Given the description of an element on the screen output the (x, y) to click on. 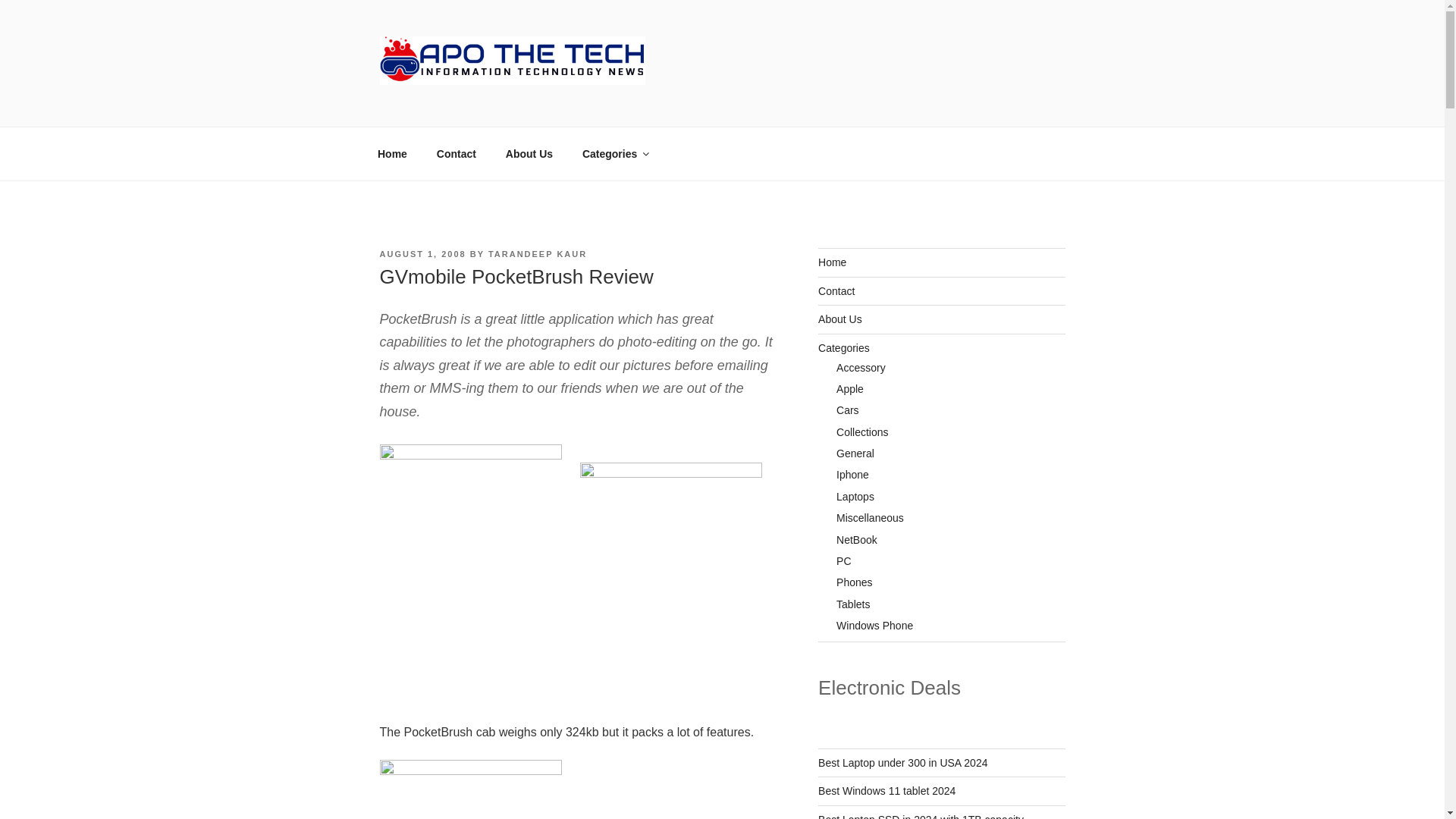
Cars (847, 410)
Iphone (852, 474)
About Us (839, 318)
Accessory (860, 367)
AUGUST 1, 2008 (421, 253)
TARANDEEP KAUR (536, 253)
Laptops (855, 496)
Home (831, 262)
Apple (849, 388)
APOTHETECH (483, 106)
Categories (843, 347)
Home (392, 153)
Categories (615, 153)
Collections (861, 431)
General (855, 453)
